Given the description of an element on the screen output the (x, y) to click on. 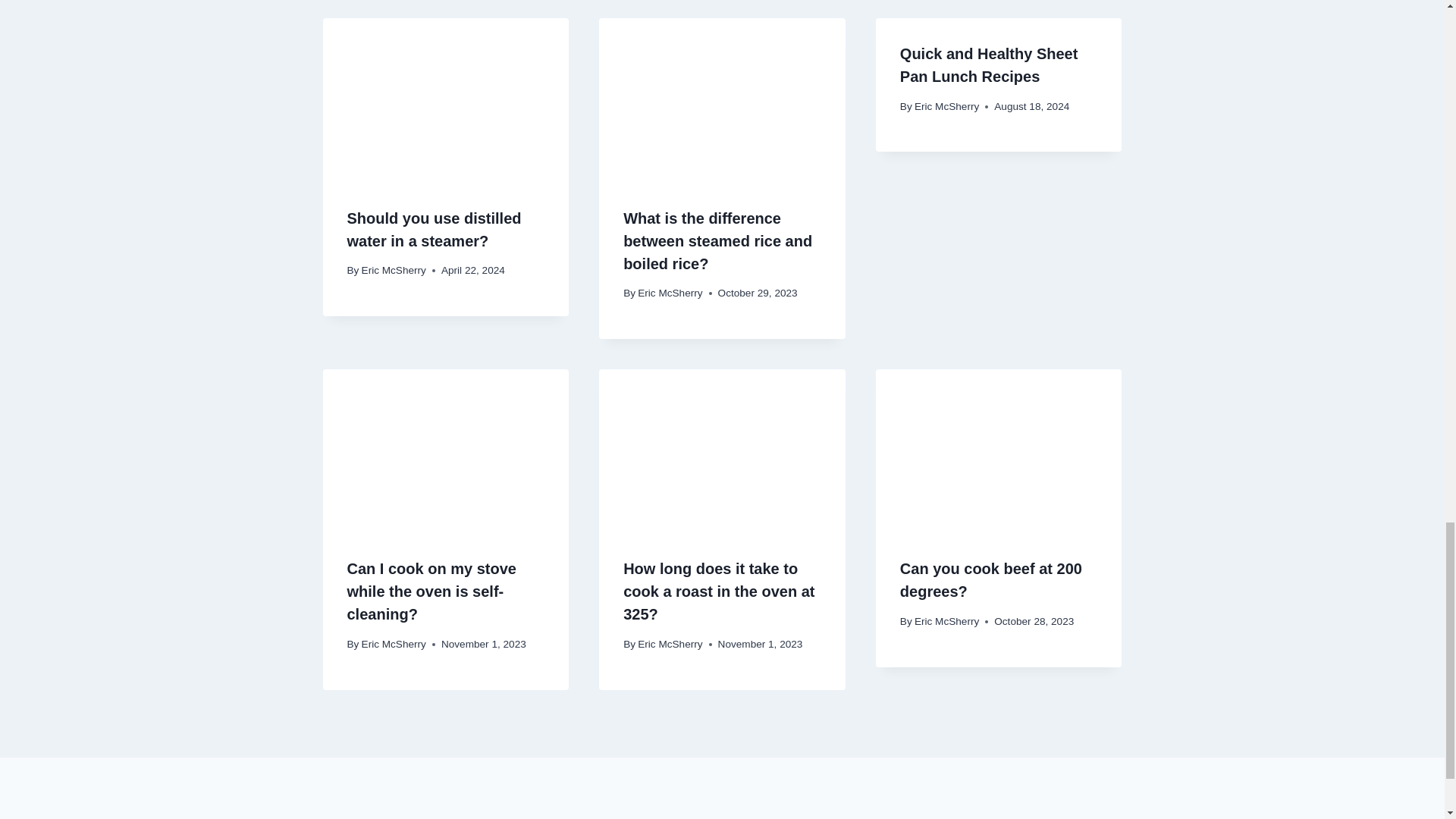
Eric McSherry (946, 106)
Eric McSherry (669, 292)
What is the difference between steamed rice and boiled rice? (717, 240)
Eric McSherry (393, 644)
Eric McSherry (393, 270)
Quick and Healthy Sheet Pan Lunch Recipes (988, 65)
Should you use distilled water in a steamer? (434, 229)
Can I cook on my stove while the oven is self-cleaning? (431, 591)
